Given the description of an element on the screen output the (x, y) to click on. 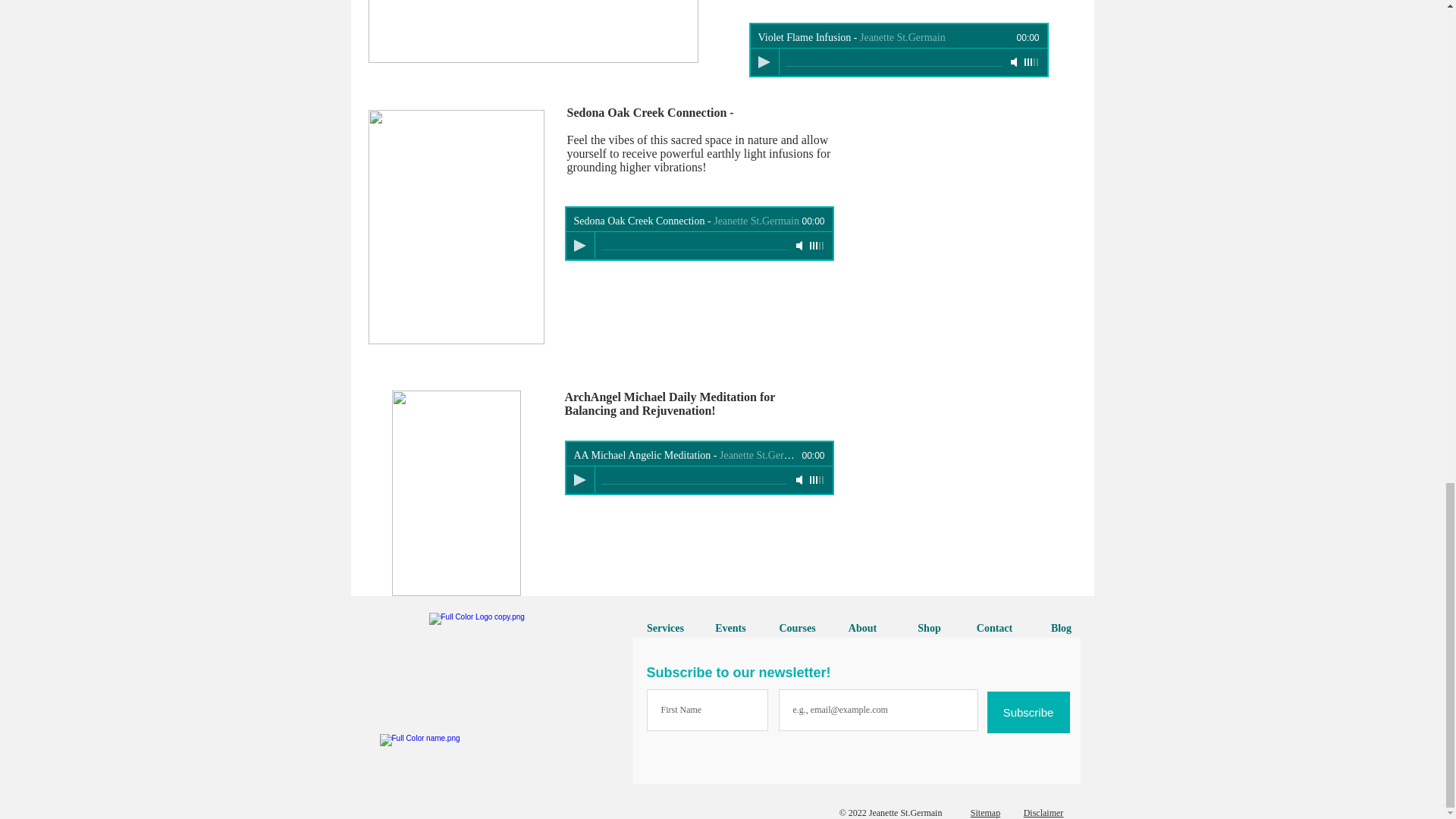
0 (692, 480)
0 (692, 246)
0 (893, 62)
